Given the description of an element on the screen output the (x, y) to click on. 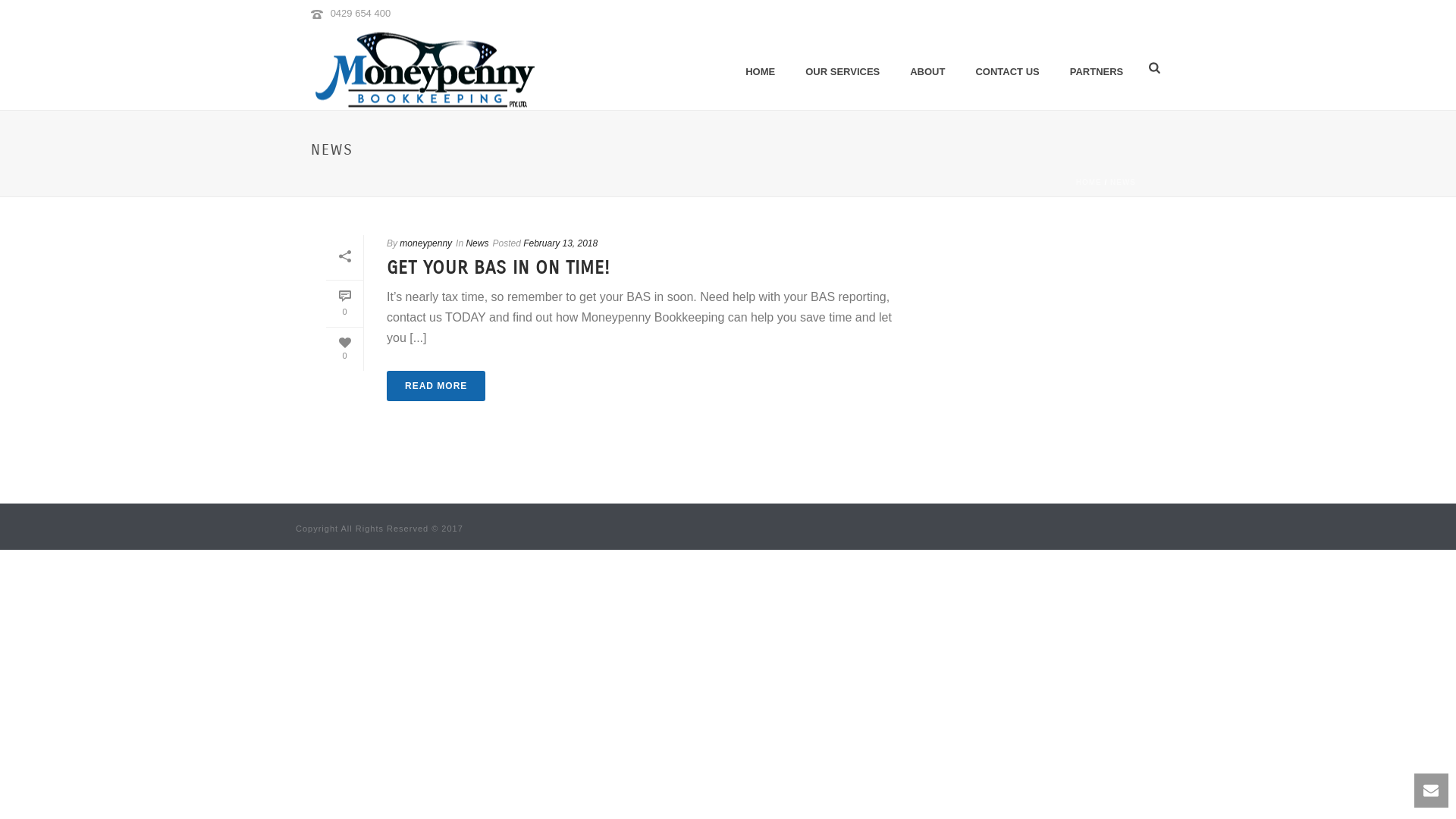
0 Element type: text (344, 348)
moneypenny Element type: text (425, 243)
February 13, 2018 Element type: text (560, 243)
GET YOUR BAS IN ON TIME! Element type: text (497, 267)
HOME Element type: text (1088, 182)
Bookkeeping Services Element type: hover (424, 68)
0429 654 400 Element type: text (360, 12)
PARTNERS Element type: text (1096, 67)
HOME Element type: text (760, 67)
NEWS Element type: text (1122, 182)
News Element type: text (476, 243)
0 Element type: text (344, 303)
OUR SERVICES Element type: text (842, 67)
CONTACT US Element type: text (1007, 67)
ABOUT Element type: text (927, 67)
READ MORE Element type: text (435, 385)
